Given the description of an element on the screen output the (x, y) to click on. 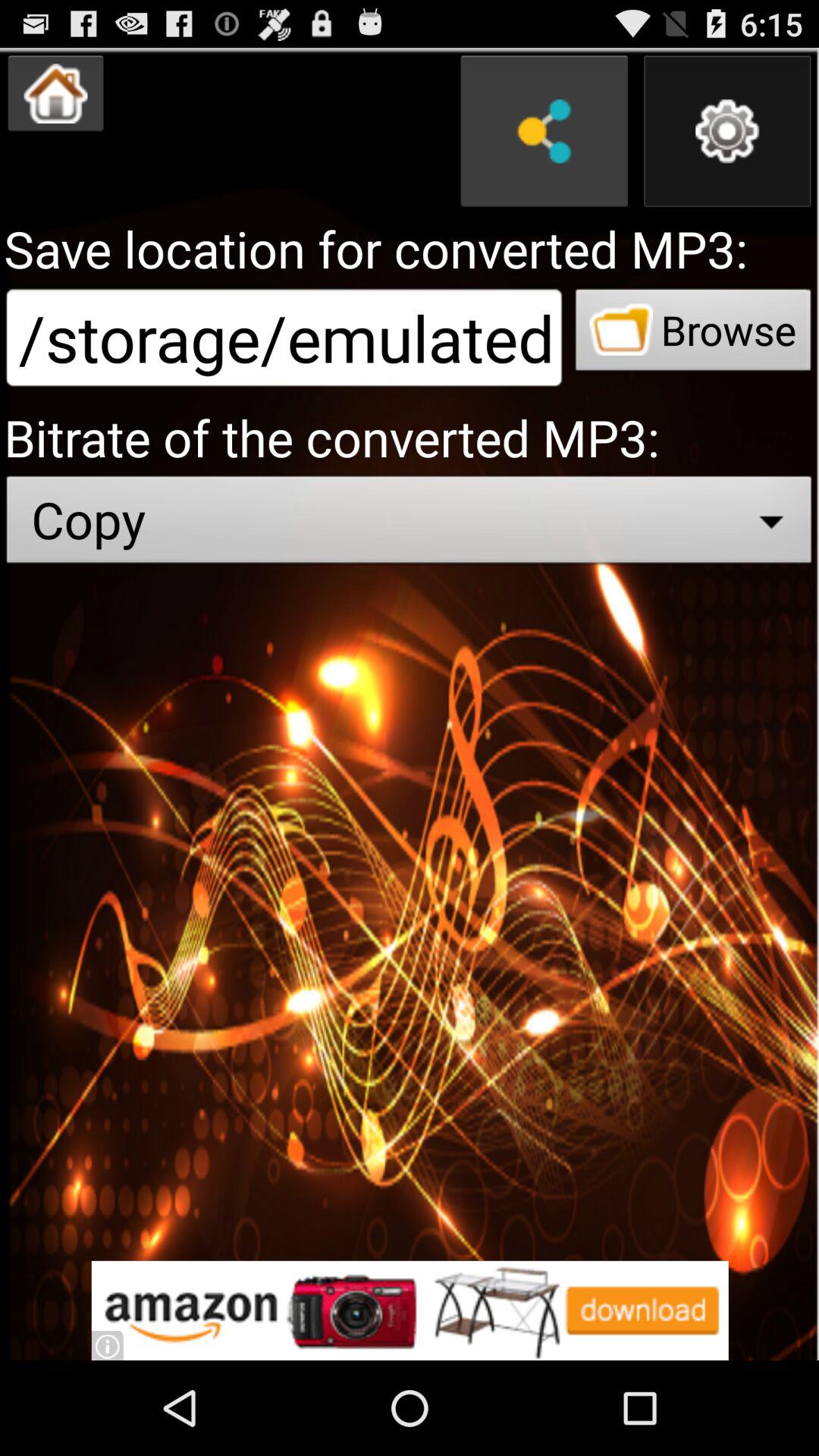
for home (55, 93)
